Given the description of an element on the screen output the (x, y) to click on. 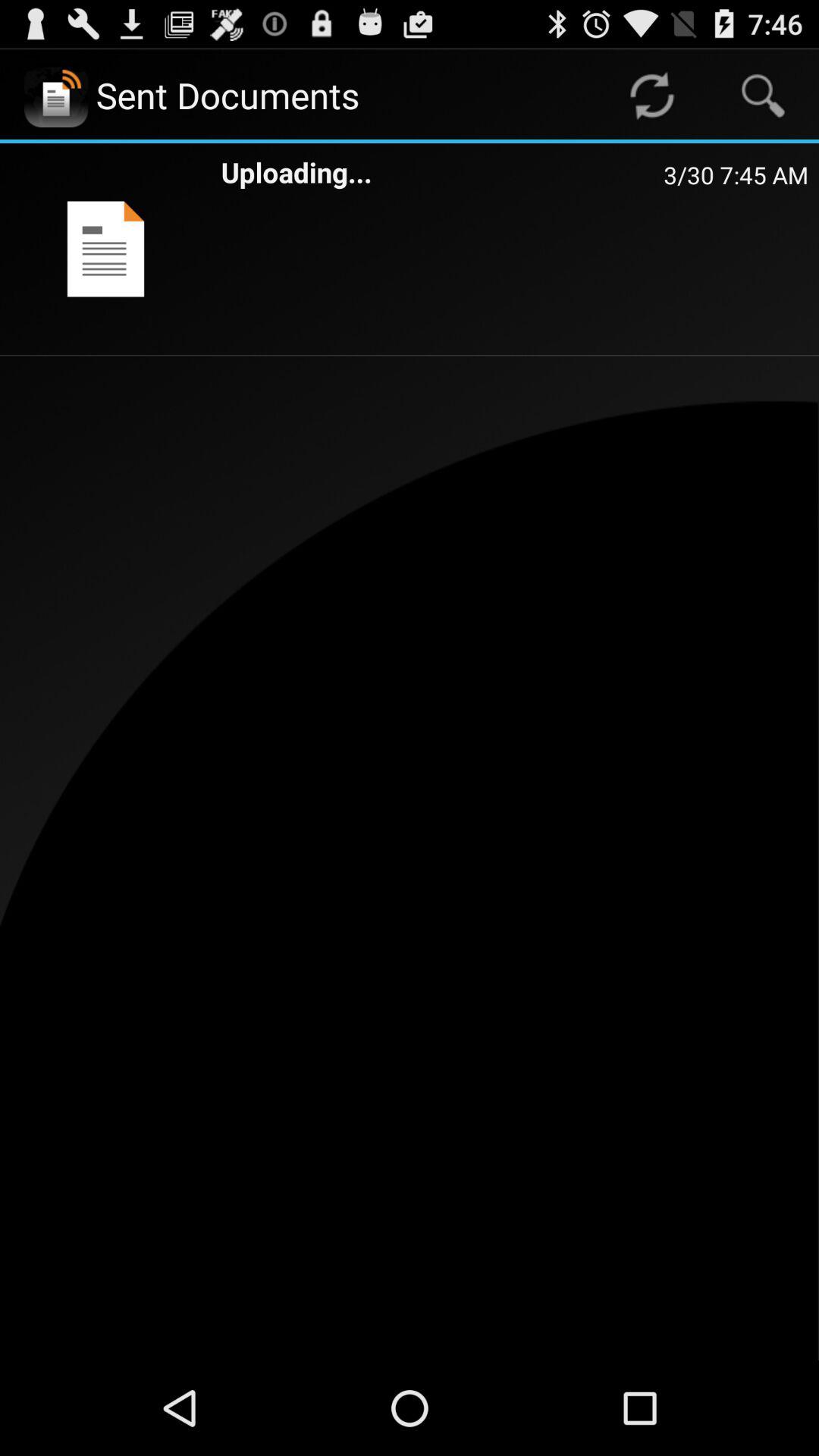
launch the app above the 3 30 7 (763, 95)
